Given the description of an element on the screen output the (x, y) to click on. 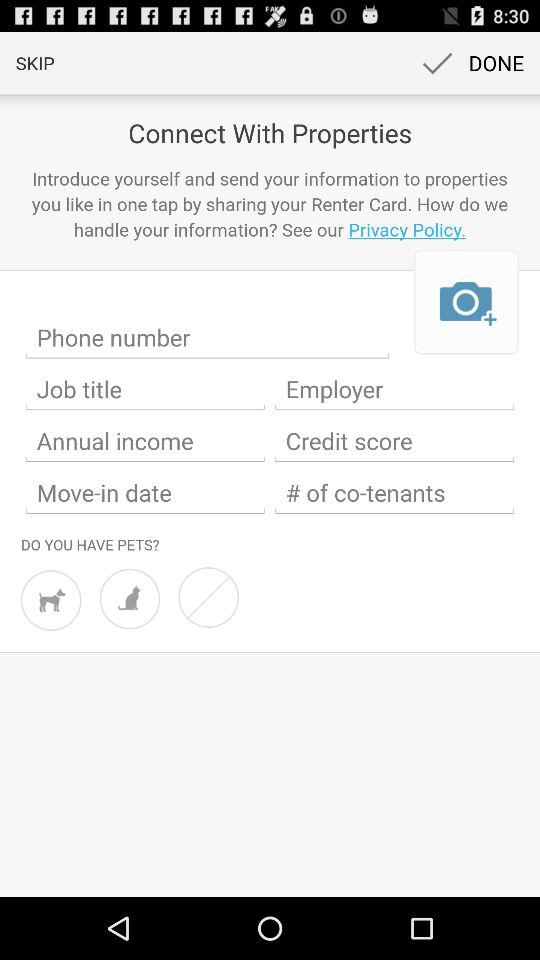
number of people you are planning to move in with (394, 493)
